Given the description of an element on the screen output the (x, y) to click on. 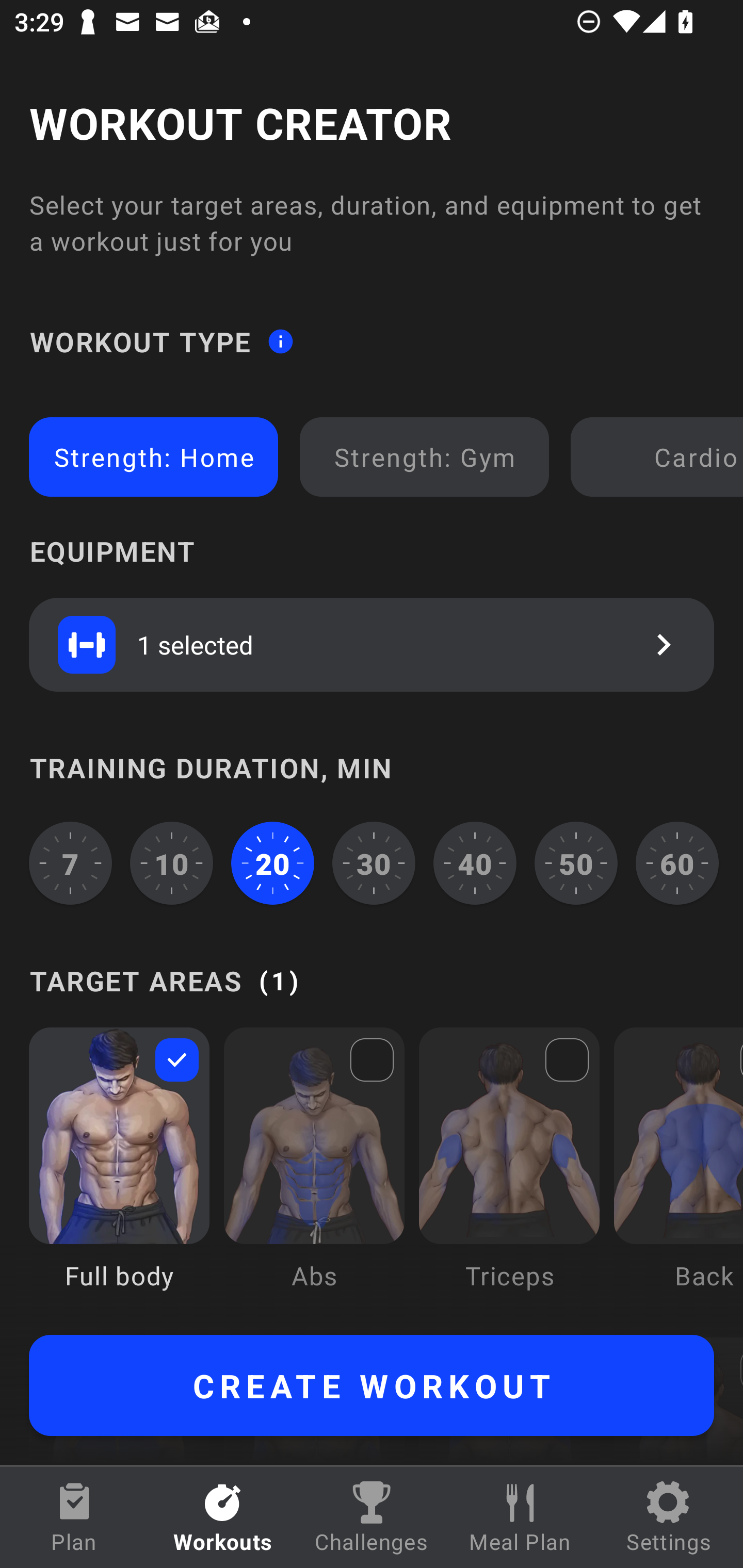
Workout type information button (280, 340)
Strength: Gym (423, 457)
Cardio (660, 457)
1 selected (371, 644)
7 (70, 862)
10 (171, 862)
20 (272, 862)
30 (373, 862)
40 (474, 862)
50 (575, 862)
60 (676, 862)
Abs (313, 1172)
Triceps (509, 1172)
Back (678, 1172)
CREATE WORKOUT (371, 1385)
 Plan  (74, 1517)
 Challenges  (371, 1517)
 Meal Plan  (519, 1517)
 Settings  (668, 1517)
